Given the description of an element on the screen output the (x, y) to click on. 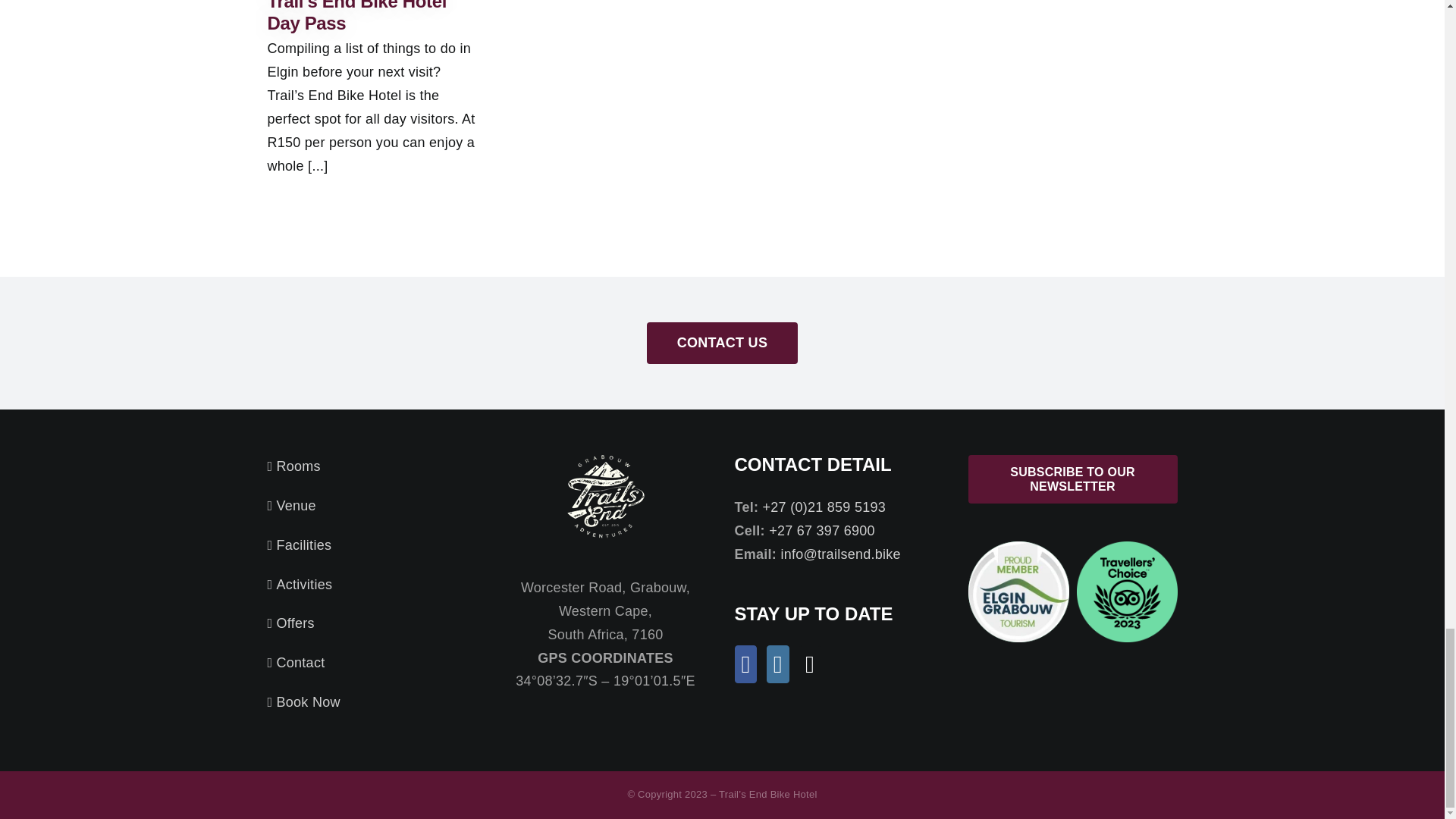
Elgin Grabouw Tourism Member (1018, 591)
Tripadvisor Travellers Choice Award 2023 (1127, 591)
